Given the description of an element on the screen output the (x, y) to click on. 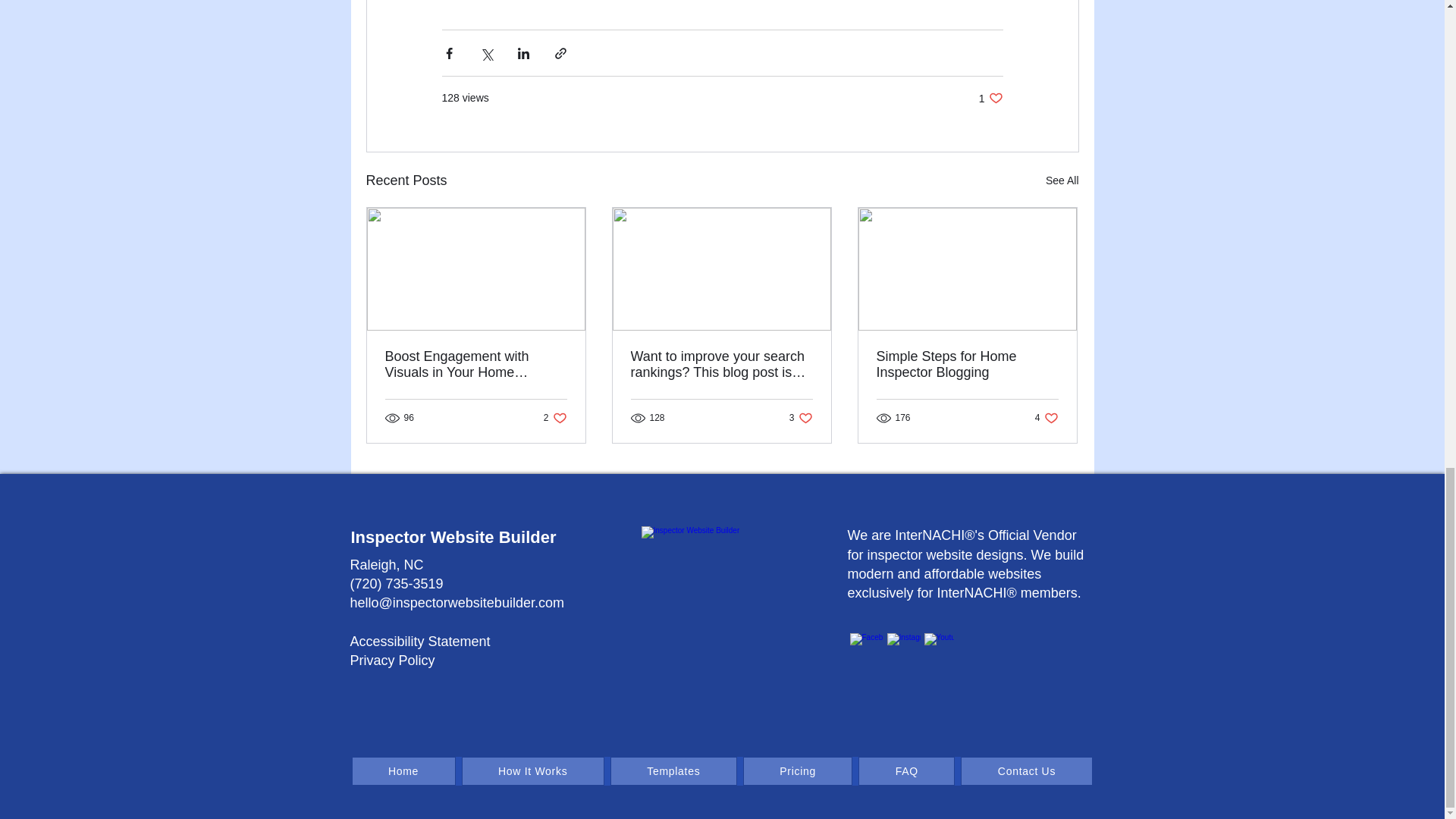
See All (1061, 180)
Simple Steps for Home Inspector Blogging (555, 418)
Inspector Website Builder (967, 364)
Boost Engagement with Visuals in Your Home Inspector Blog (718, 558)
